Given the description of an element on the screen output the (x, y) to click on. 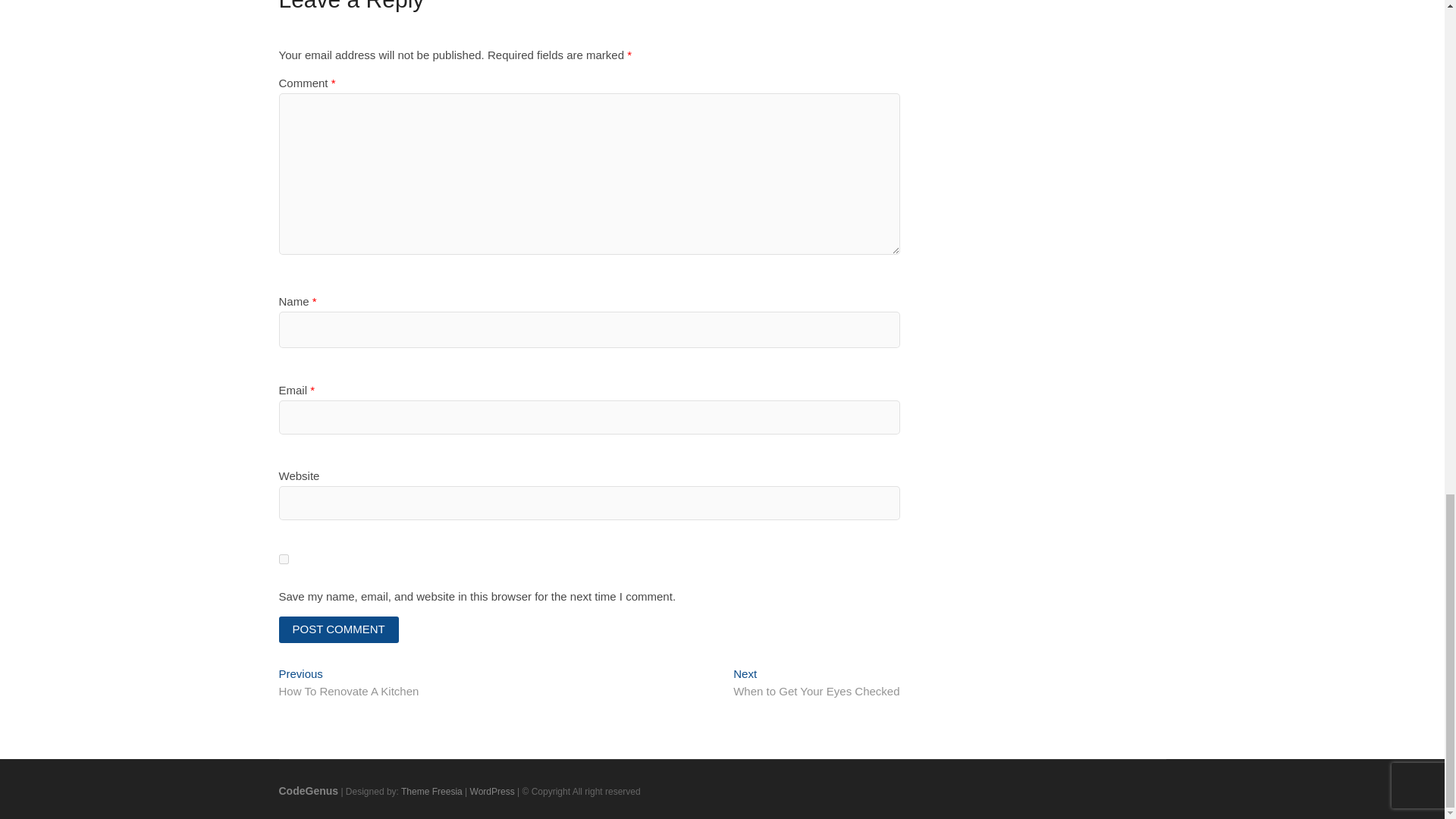
WordPress (492, 791)
Post Comment (816, 684)
WordPress (338, 629)
CodeGenus (349, 684)
Theme Freesia (492, 791)
CodeGenus (309, 790)
Theme Freesia (432, 791)
Post Comment (309, 790)
